Given the description of an element on the screen output the (x, y) to click on. 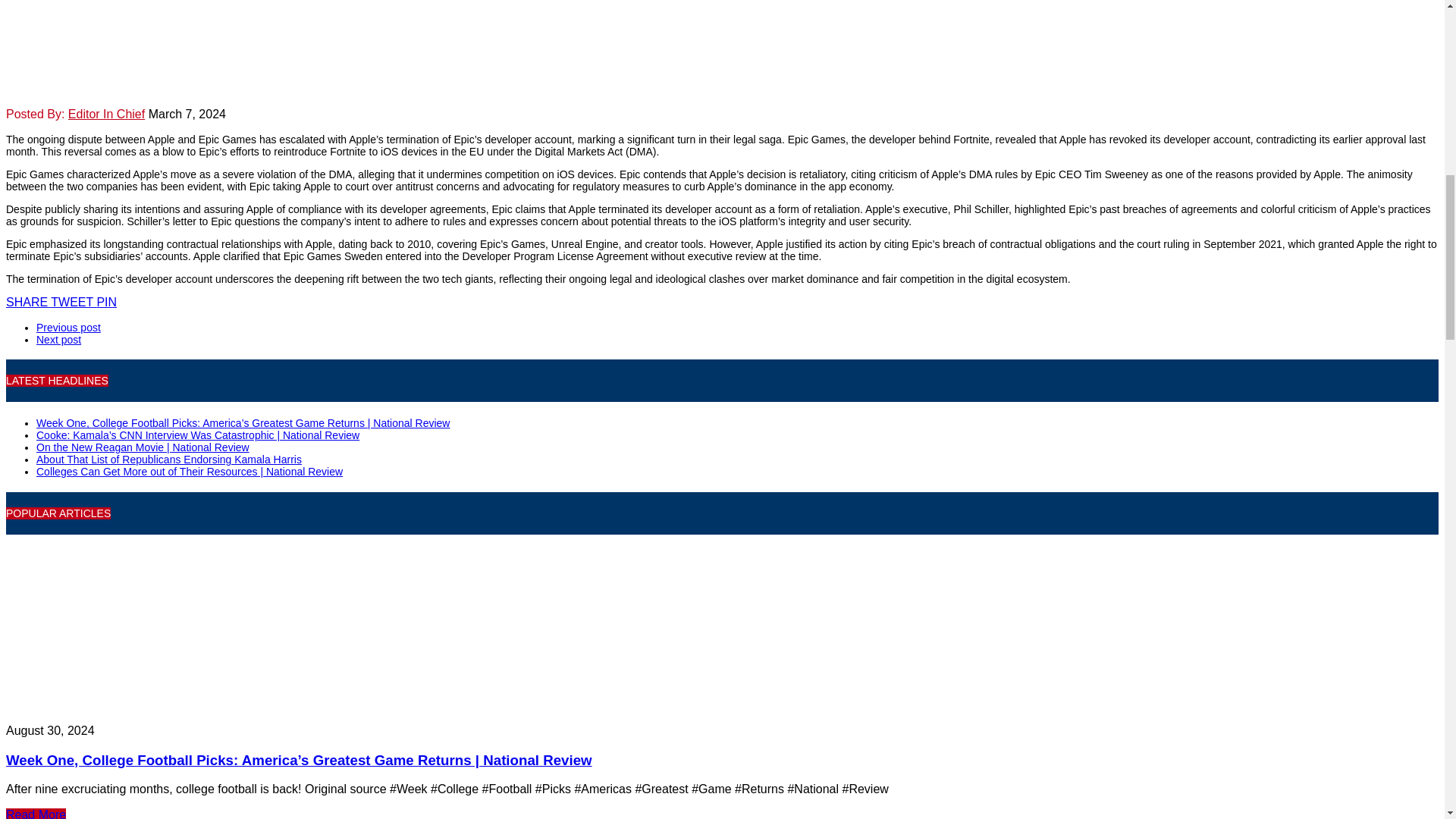
About That List of Republicans Endorsing Kamala Harris (168, 459)
Previous post (68, 327)
SHARE (27, 301)
TWEET (73, 301)
Pin This Post (106, 301)
PIN (106, 301)
About That List of Republicans Endorsing Kamala Harris (168, 459)
Next post (58, 339)
Share on Facebook (27, 301)
Tweet This Post (73, 301)
